Given the description of an element on the screen output the (x, y) to click on. 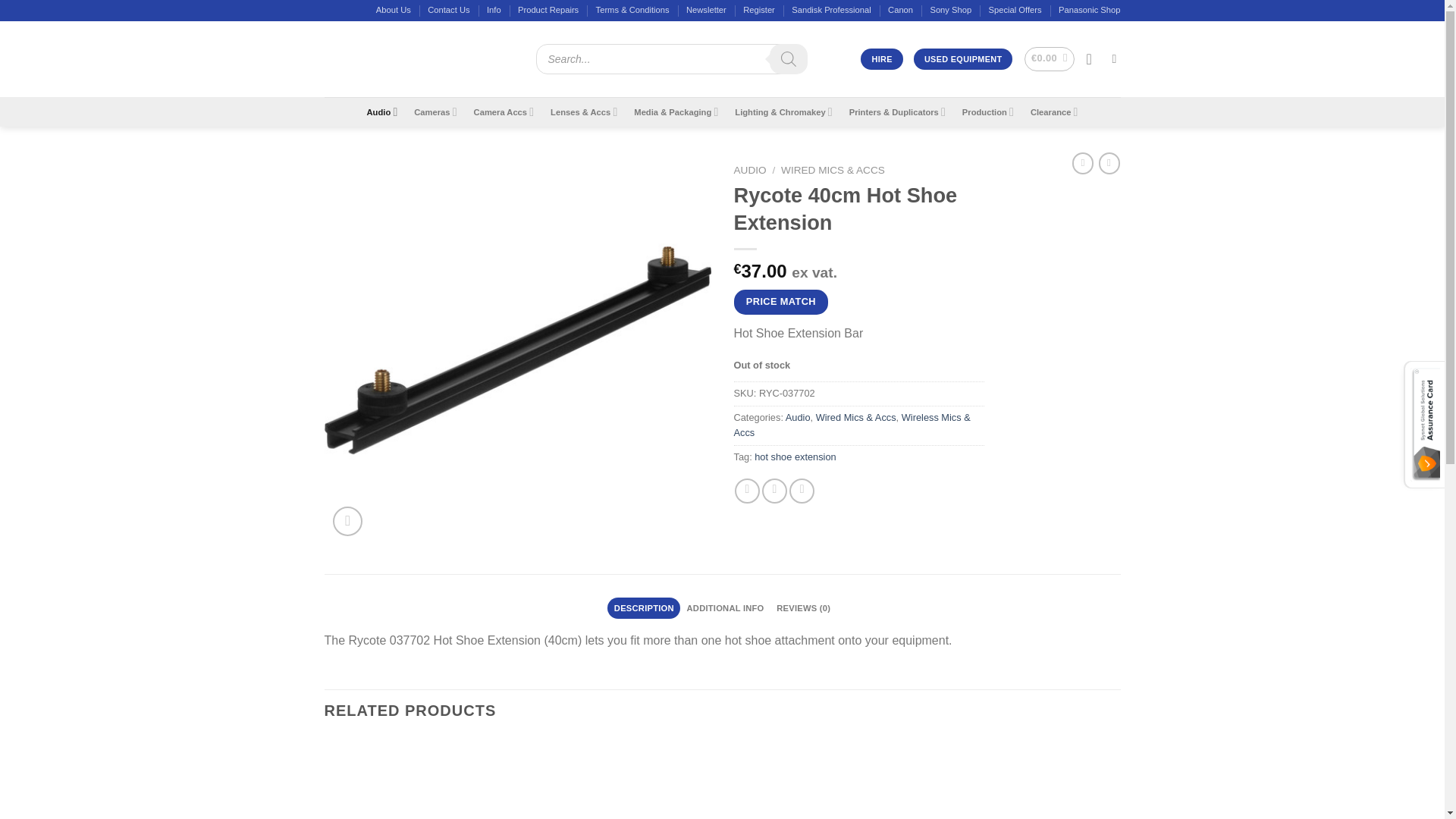
Cameras (435, 111)
HIRE (881, 58)
Camera Accs (504, 111)
Audio (381, 111)
USED EQUIPMENT (963, 58)
Sandisk Professional (831, 10)
Share on Twitter (774, 490)
Contact Us (448, 10)
Canon (900, 10)
Price match, contact us today for more information (780, 301)
About Us (392, 10)
Product Repairs (548, 10)
Zoom (347, 521)
Sony Shop (950, 10)
Register (758, 10)
